Given the description of an element on the screen output the (x, y) to click on. 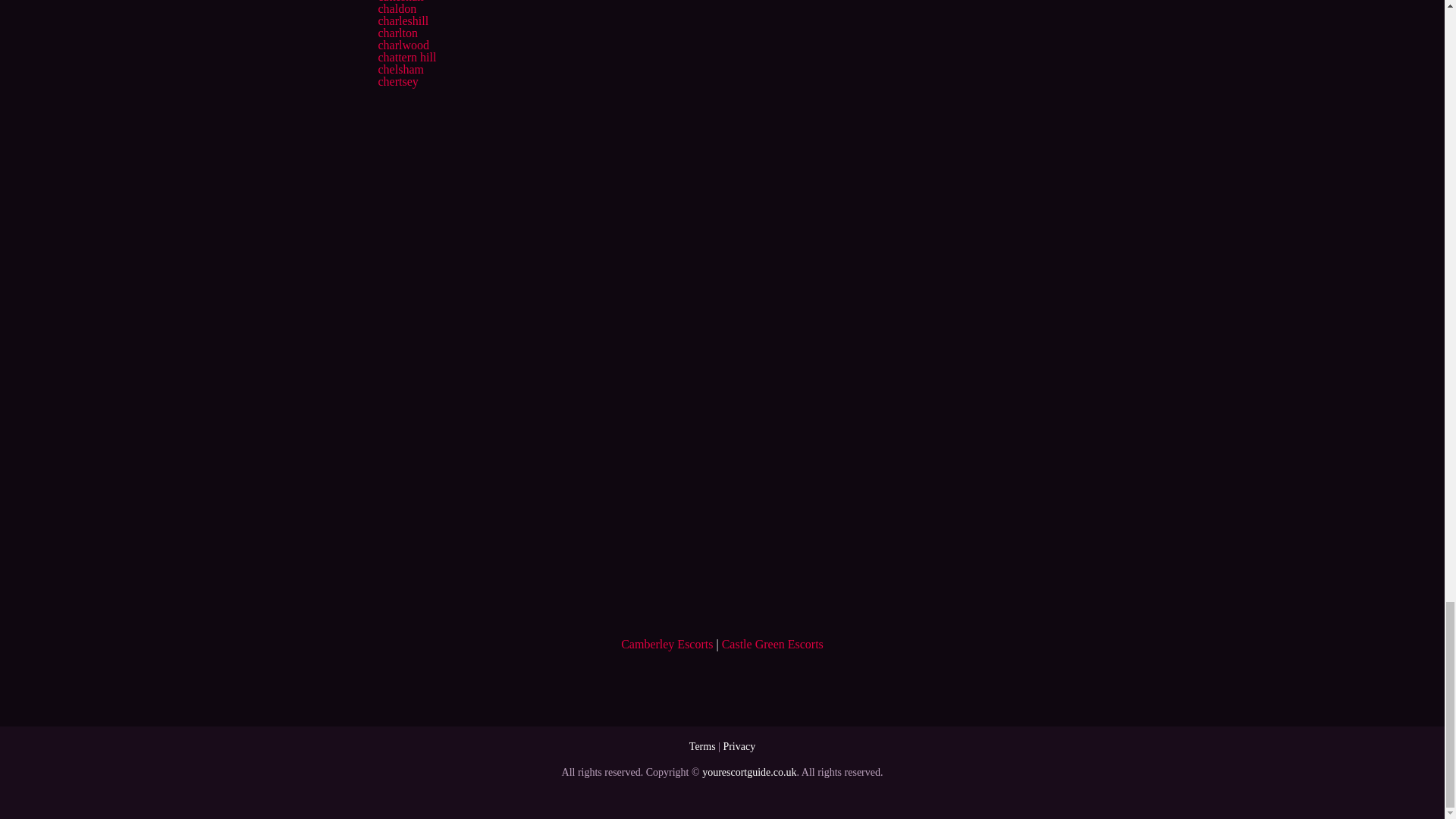
charlwood (403, 44)
Privacy (738, 746)
Terms (702, 746)
Privacy (738, 746)
Castle Green Escorts (773, 644)
chertsey (397, 81)
Terms (702, 746)
chaldon (396, 8)
Camberley Escorts (667, 644)
chattern hill (406, 56)
